Given the description of an element on the screen output the (x, y) to click on. 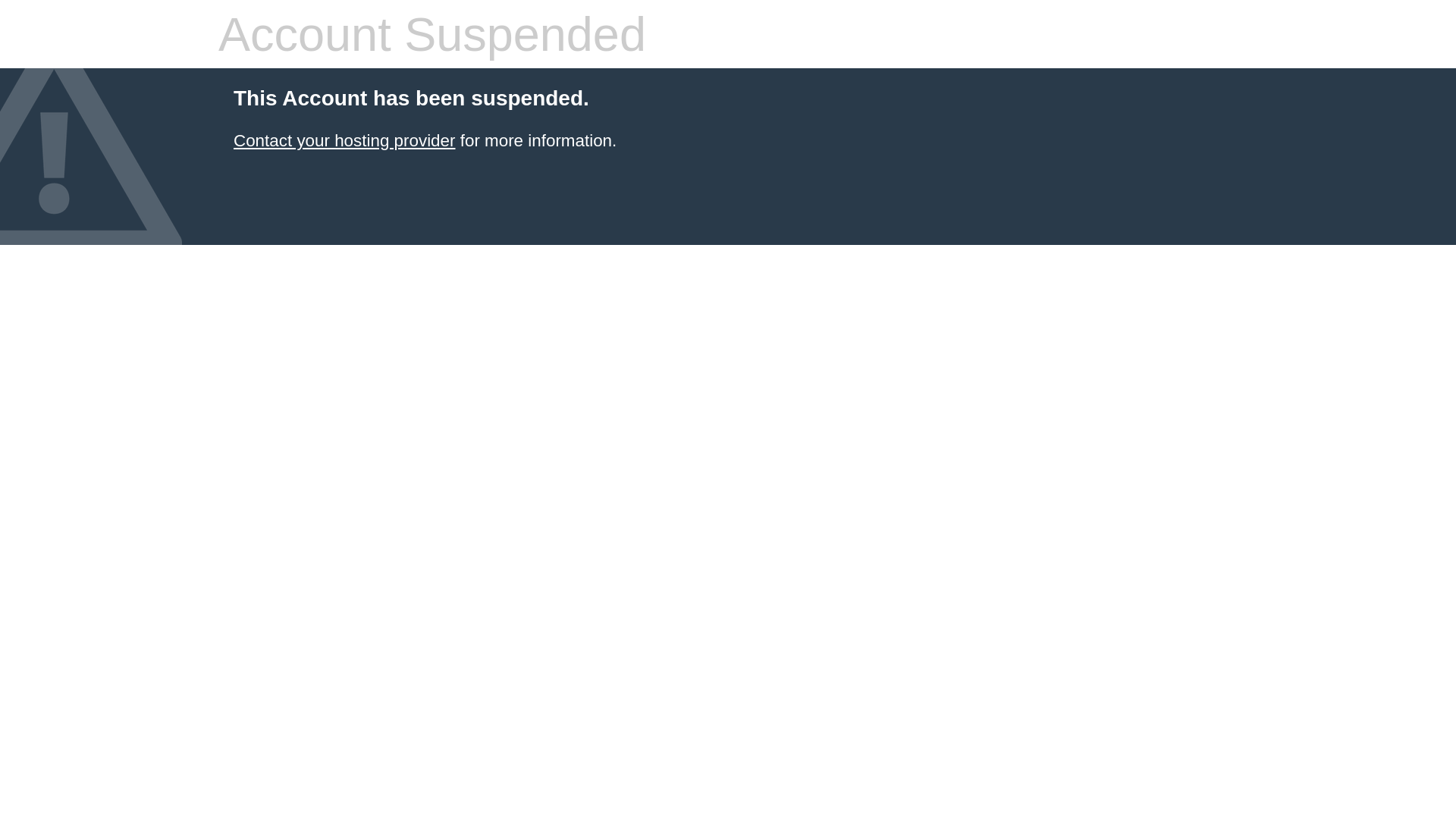
Contact your hosting provider Element type: text (344, 140)
